Given the description of an element on the screen output the (x, y) to click on. 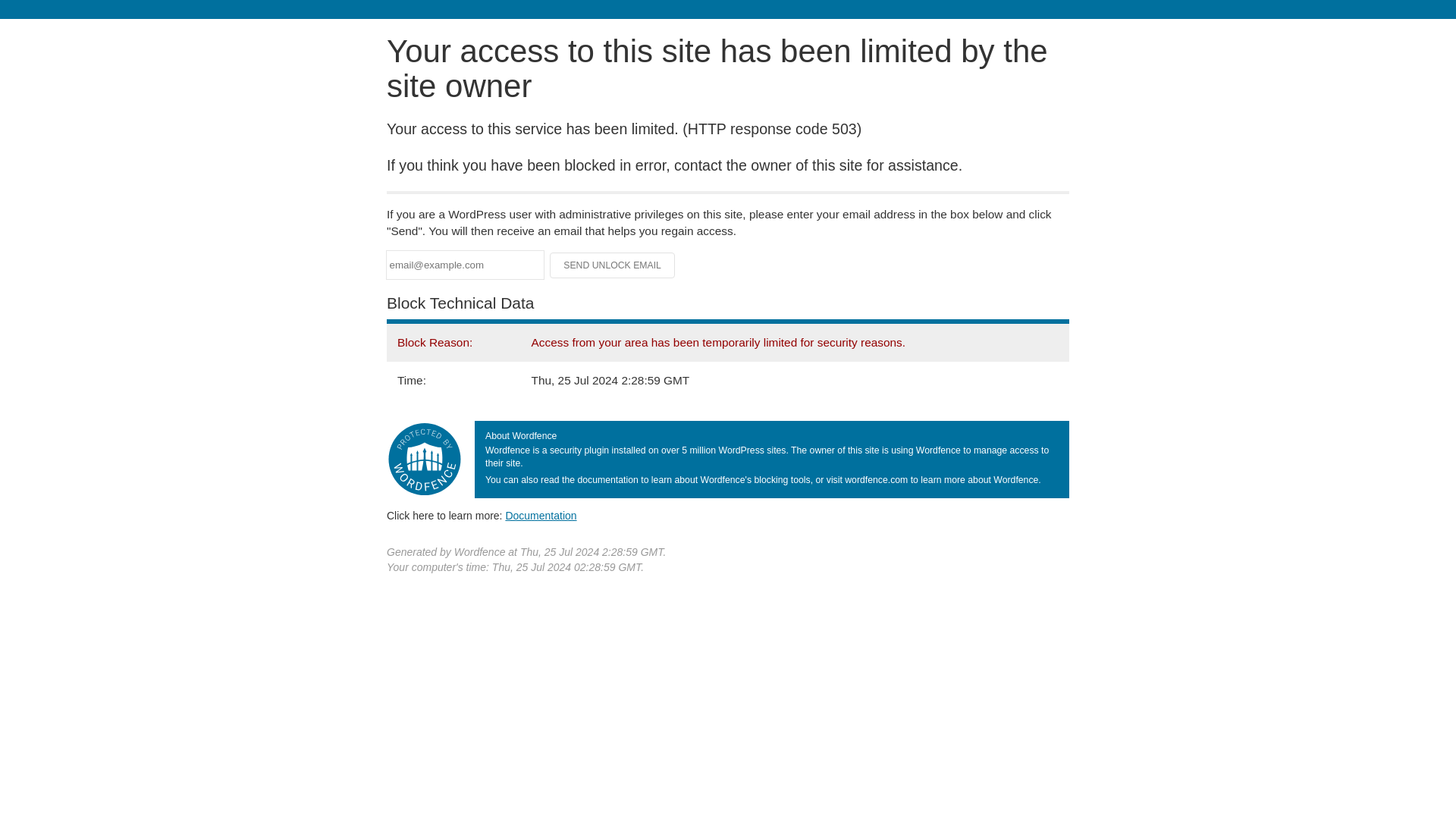
Documentation (540, 515)
Send Unlock Email (612, 265)
Send Unlock Email (612, 265)
